Given the description of an element on the screen output the (x, y) to click on. 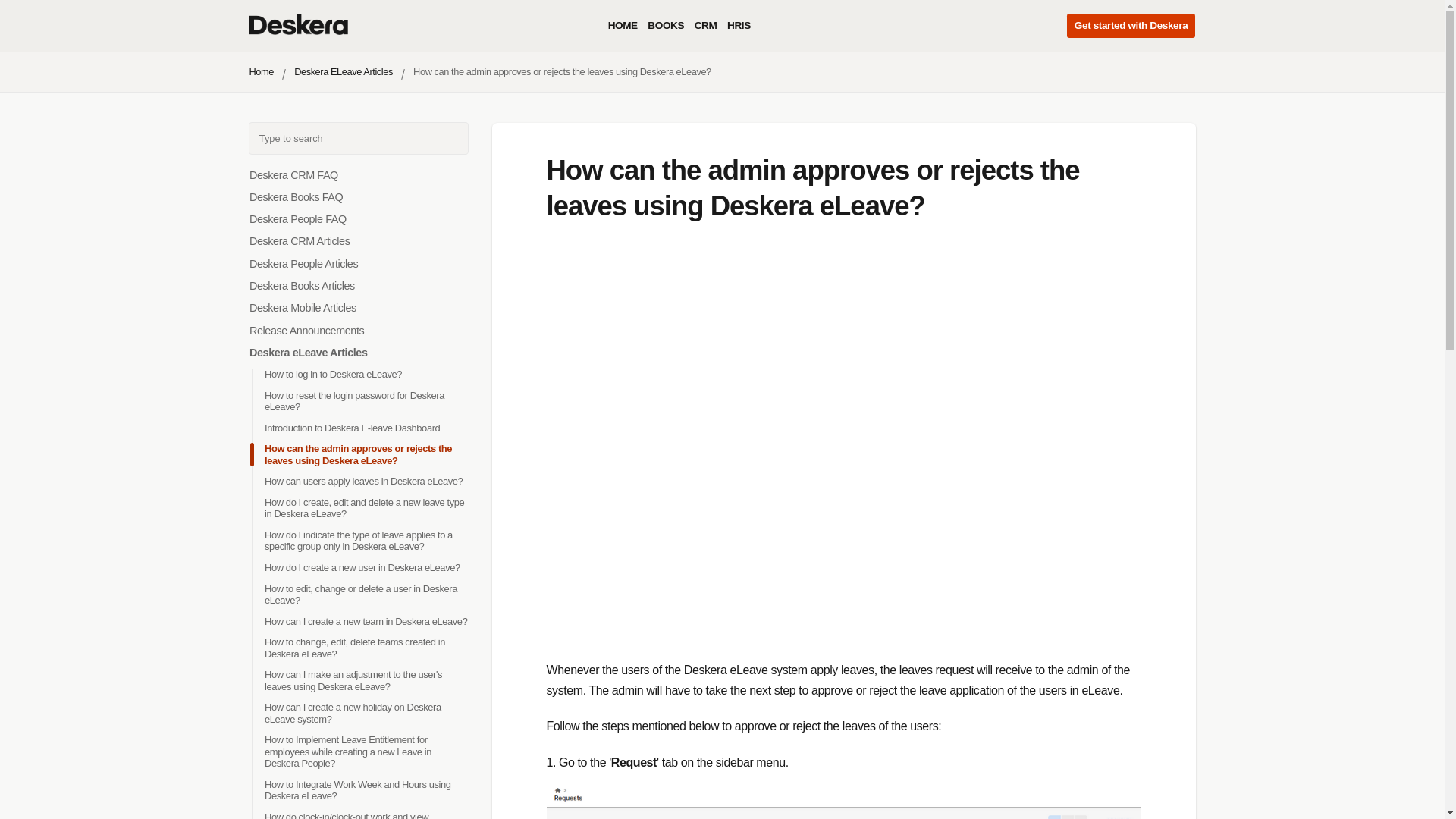
Get started with Deskera (1131, 25)
CRM (705, 25)
Home (260, 71)
Deskera CRM FAQ (292, 174)
HRIS (739, 25)
BOOKS (666, 25)
HOME (622, 25)
Deskera ELeave Articles (343, 71)
